Given the description of an element on the screen output the (x, y) to click on. 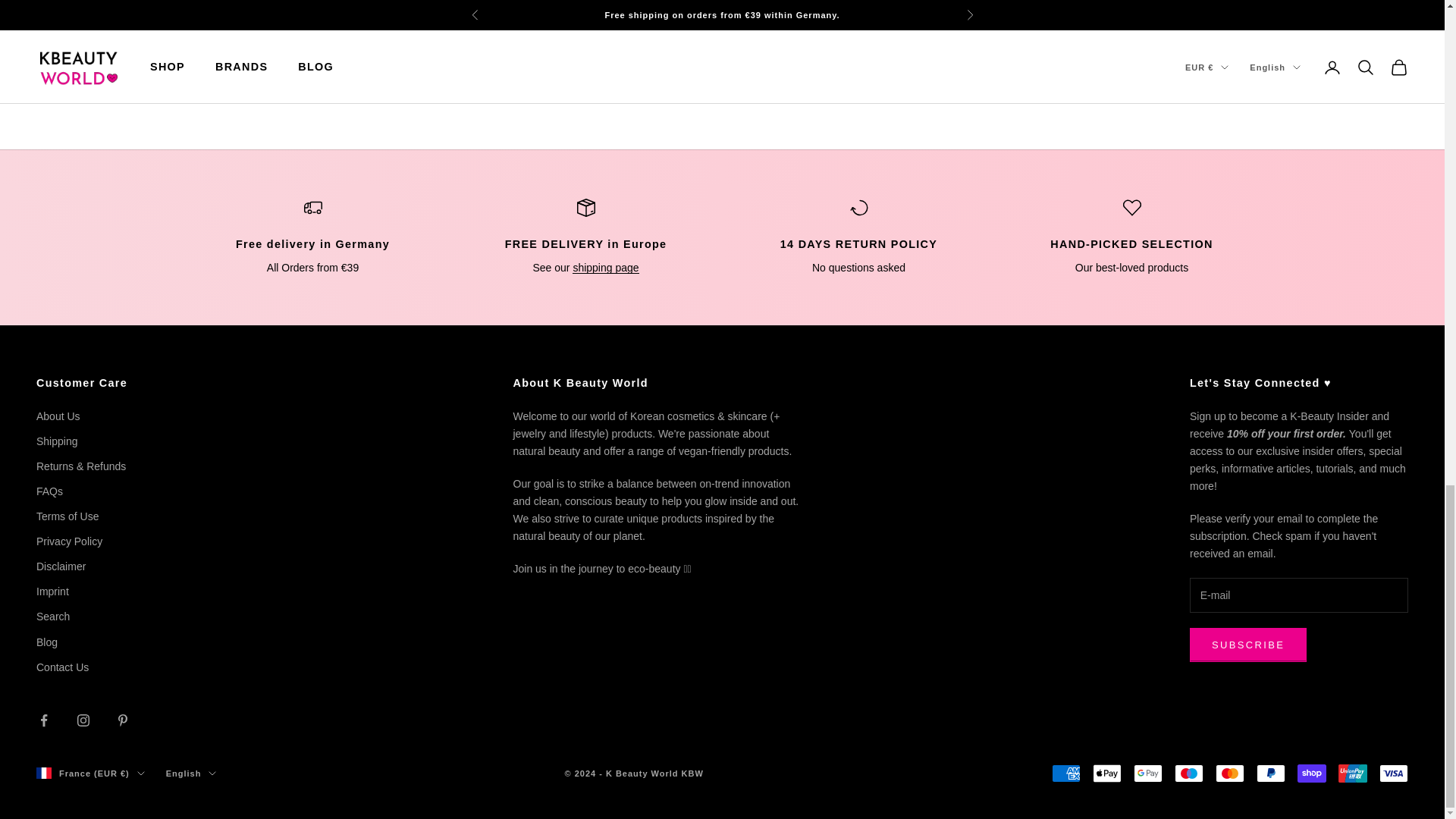
Shipping (605, 267)
